Given the description of an element on the screen output the (x, y) to click on. 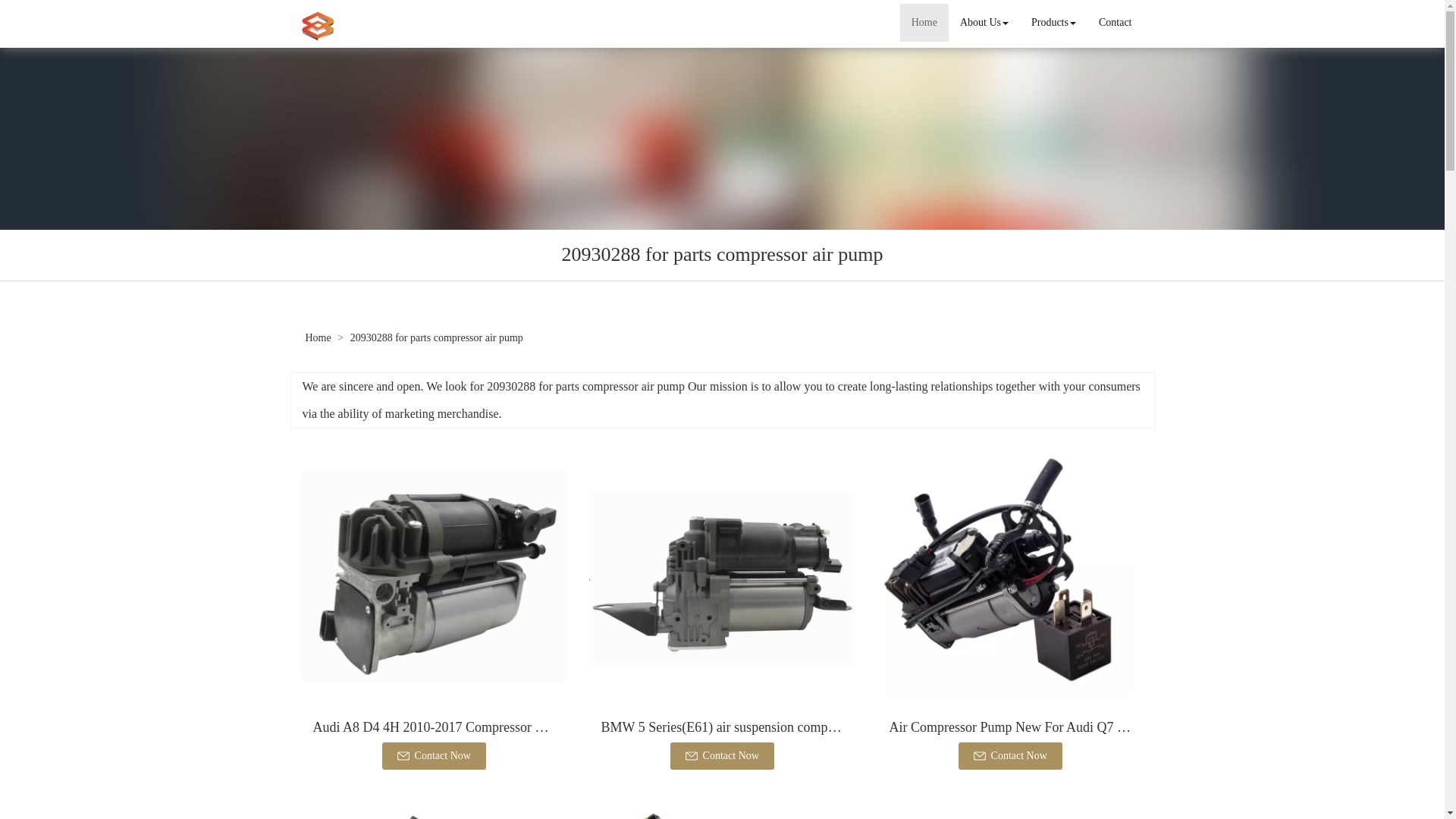
Home (924, 22)
About Us (984, 22)
Products (1053, 22)
Contact (1114, 22)
